Given the description of an element on the screen output the (x, y) to click on. 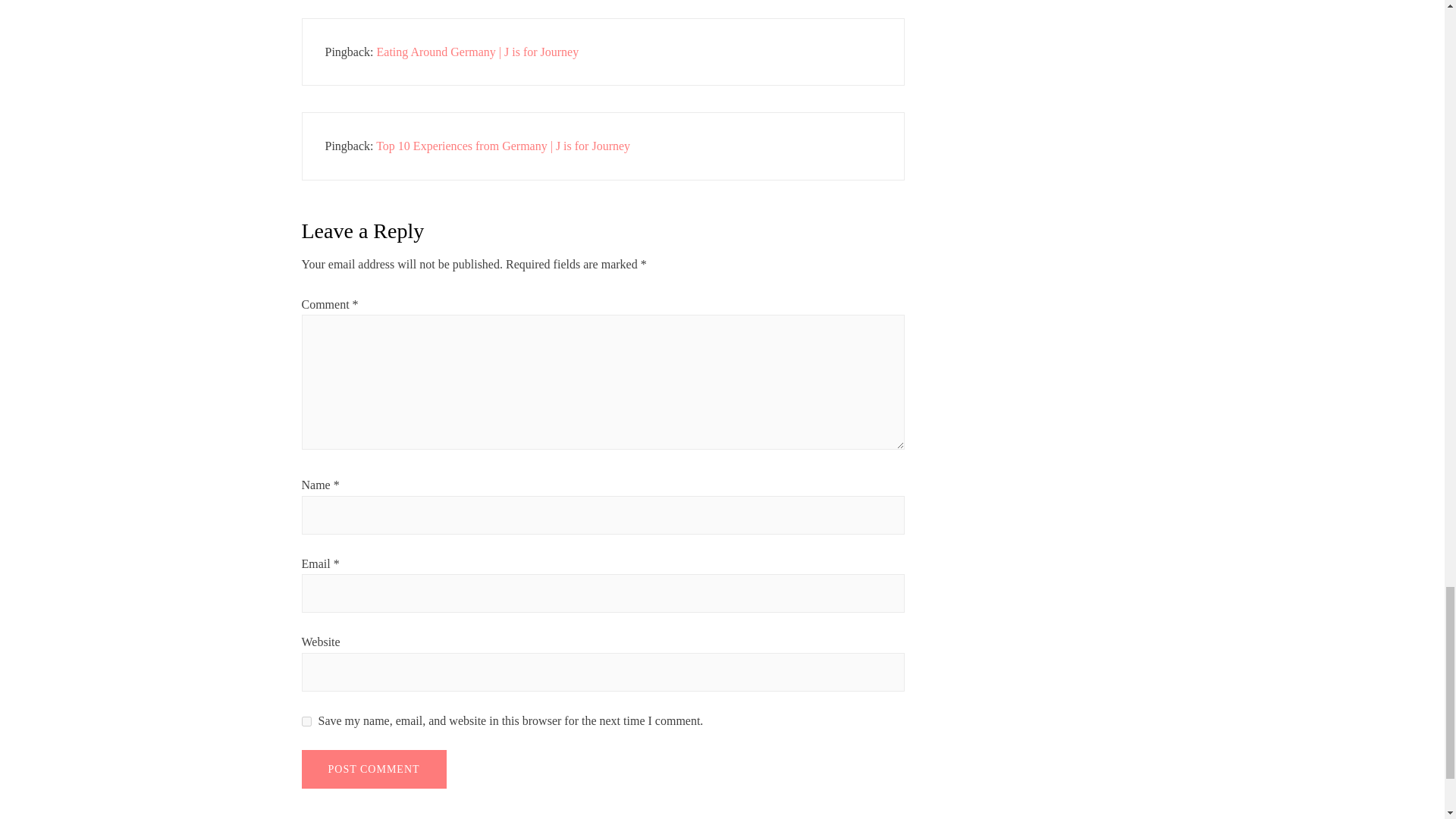
yes (306, 721)
Post Comment (373, 769)
